Given the description of an element on the screen output the (x, y) to click on. 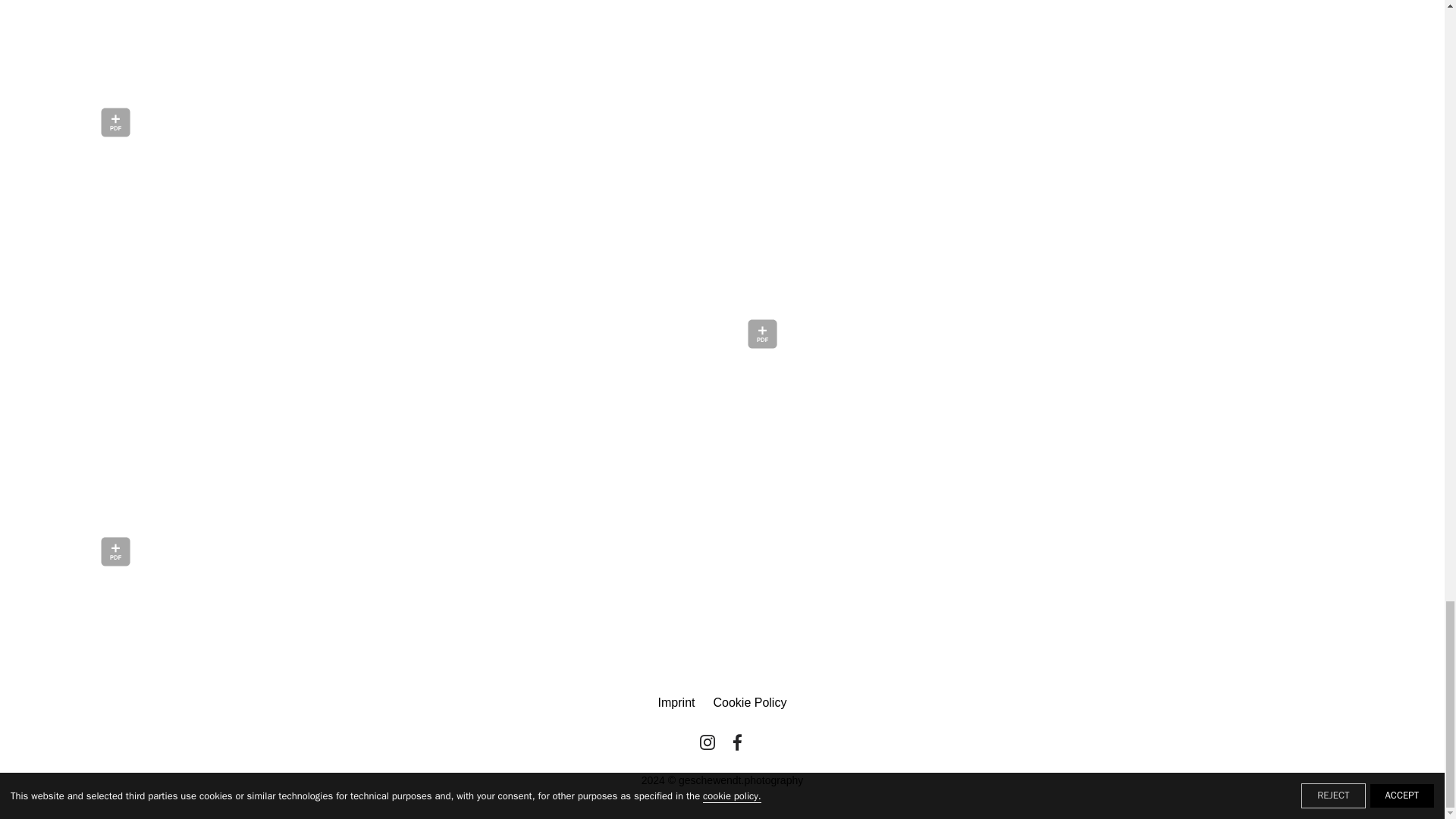
Imprint (676, 702)
Cookie Policy (749, 702)
